Given the description of an element on the screen output the (x, y) to click on. 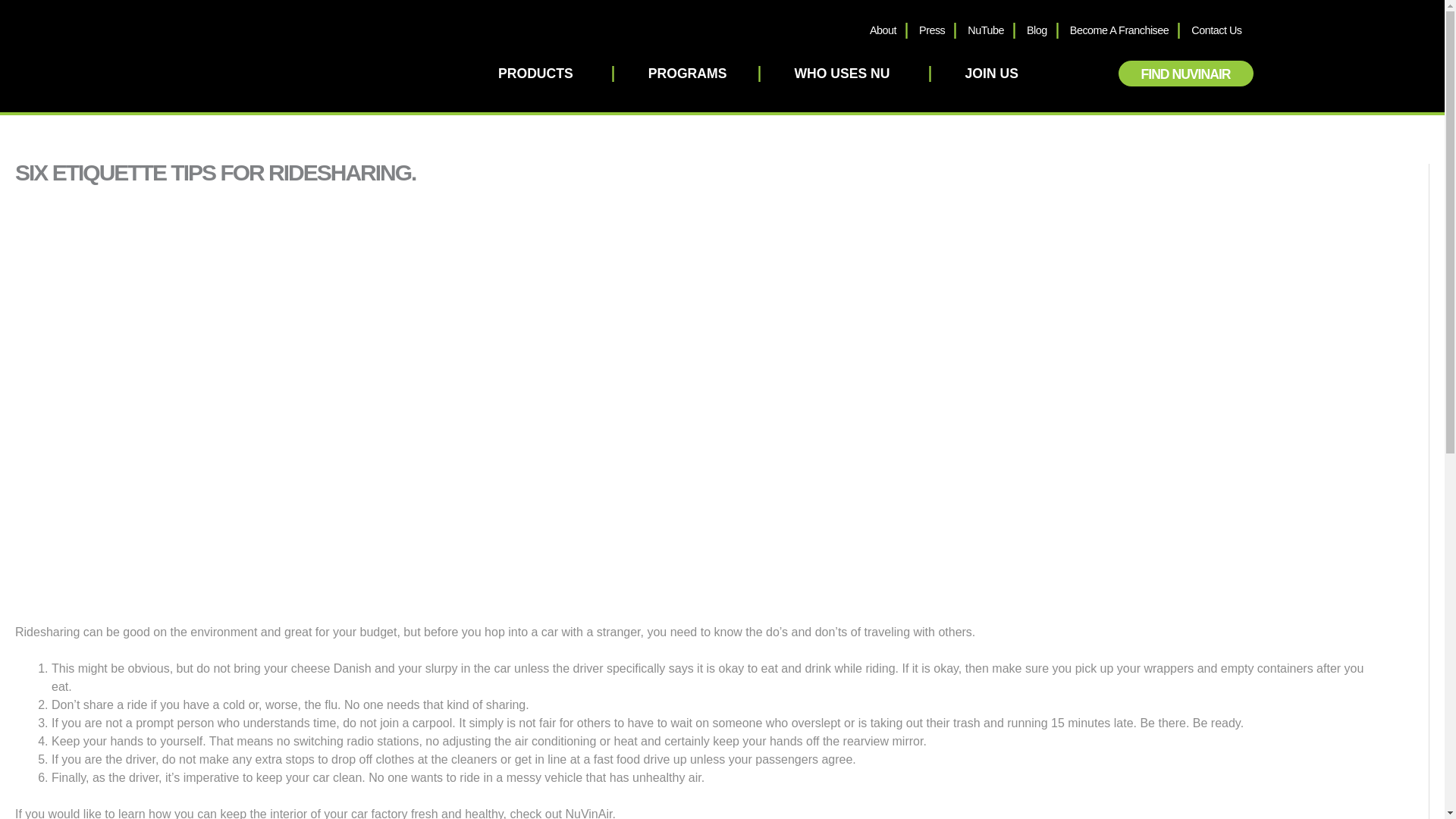
JOIN US (991, 73)
NuTube (985, 30)
PRODUCTS (539, 73)
About (883, 30)
WHO USES NU (845, 73)
PROGRAMS (687, 73)
Press (931, 30)
FIND NUVINAIR (1185, 73)
Blog (1036, 30)
Become A Franchisee (1119, 30)
